Given the description of an element on the screen output the (x, y) to click on. 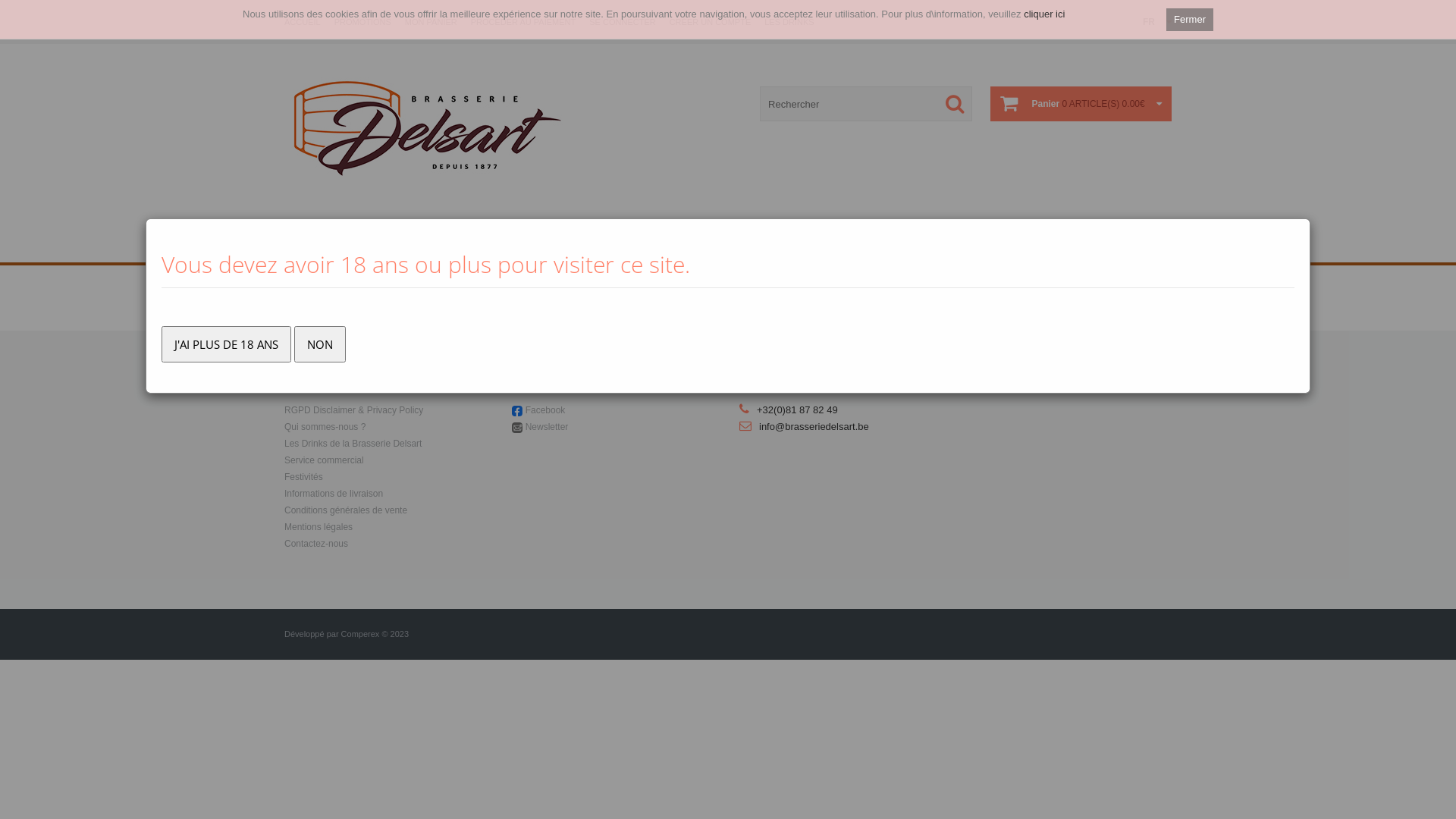
SE CONNECTER Element type: text (622, 21)
RGPD Disclaimer & Privacy Policy Element type: text (353, 409)
Newsletter Element type: text (546, 426)
Colis et Accessoires Element type: text (900, 245)
Service commercial Element type: text (324, 460)
MON PANIER Element type: text (430, 21)
Informations de livraison Element type: text (333, 493)
Fermer Element type: text (1189, 19)
 Brasserie Delsart  Element type: hover (427, 126)
Boissons Chaudes et Food Element type: text (769, 245)
J'AI PLUS DE 18 ANS Element type: text (226, 344)
Alcools Element type: text (623, 245)
Softs Element type: text (673, 245)
Qui sommes-nous ? Element type: text (324, 426)
NON Element type: text (319, 344)
Contactez-nous Element type: text (316, 543)
PROMOTIONS Element type: text (362, 21)
info@brasseriedelsart.be Element type: text (814, 426)
Vins Element type: text (575, 245)
+32(0)81 87 82 49 Element type: text (796, 409)
Comperex Element type: text (360, 633)
LES DRINKS Element type: text (788, 21)
cliquer ici Element type: text (1043, 13)
Facebook Element type: text (545, 409)
Les Drinks de la Brasserie Delsart Element type: text (352, 443)
ACCUEIL Element type: text (302, 21)
